Given the description of an element on the screen output the (x, y) to click on. 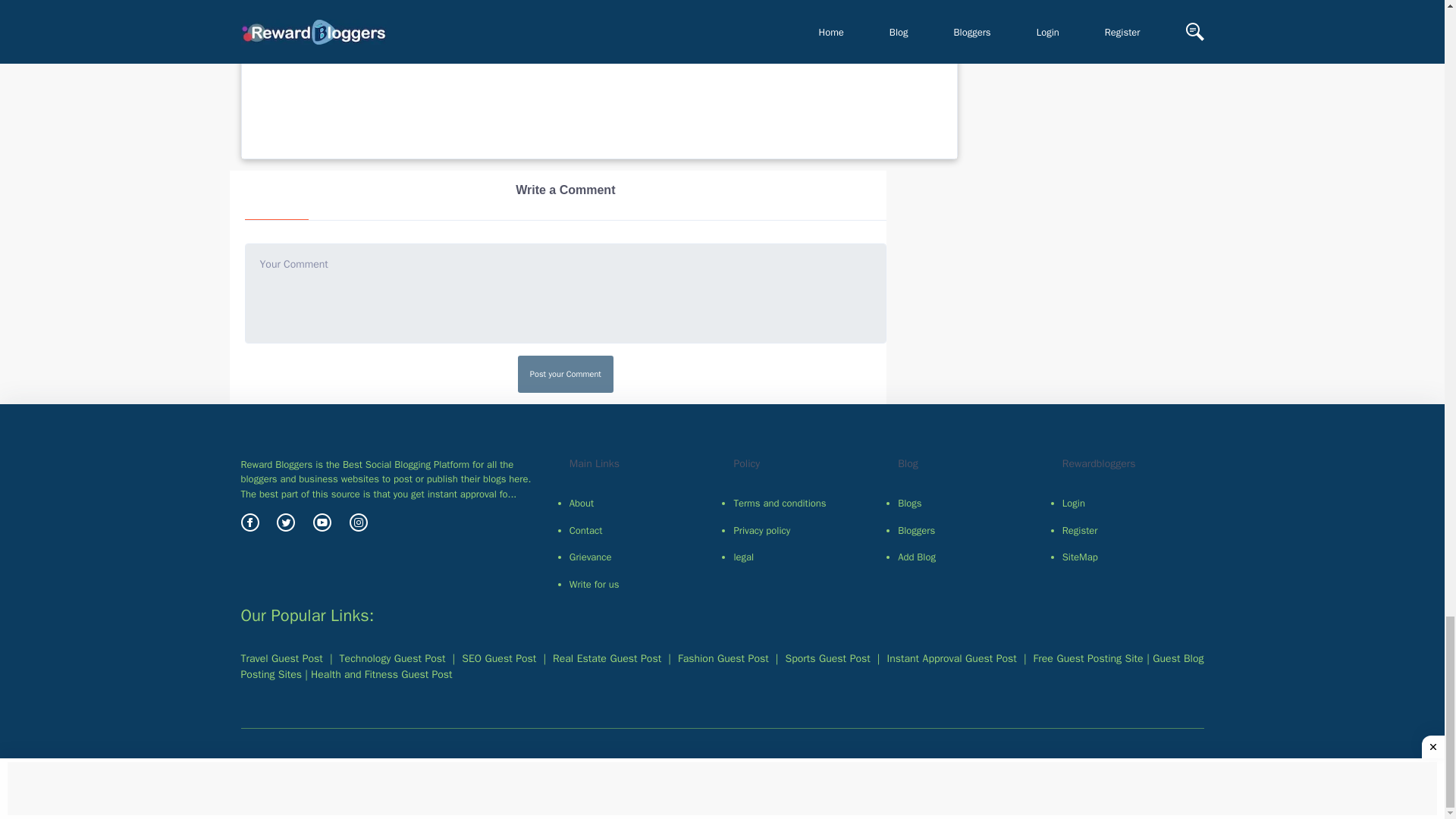
SEO Guest Post (498, 658)
Instant Approval Guest Post (951, 658)
Sports Guest Post (828, 658)
Travel Guest Post (282, 658)
Free Guest Posting Site (1087, 658)
Technology Guest Post (392, 658)
Guest Blog Posting WebSite (722, 665)
Fashion Guest Post (723, 658)
Instant Approval Guest Post (381, 674)
Real Estate Guest Post (607, 658)
